Given the description of an element on the screen output the (x, y) to click on. 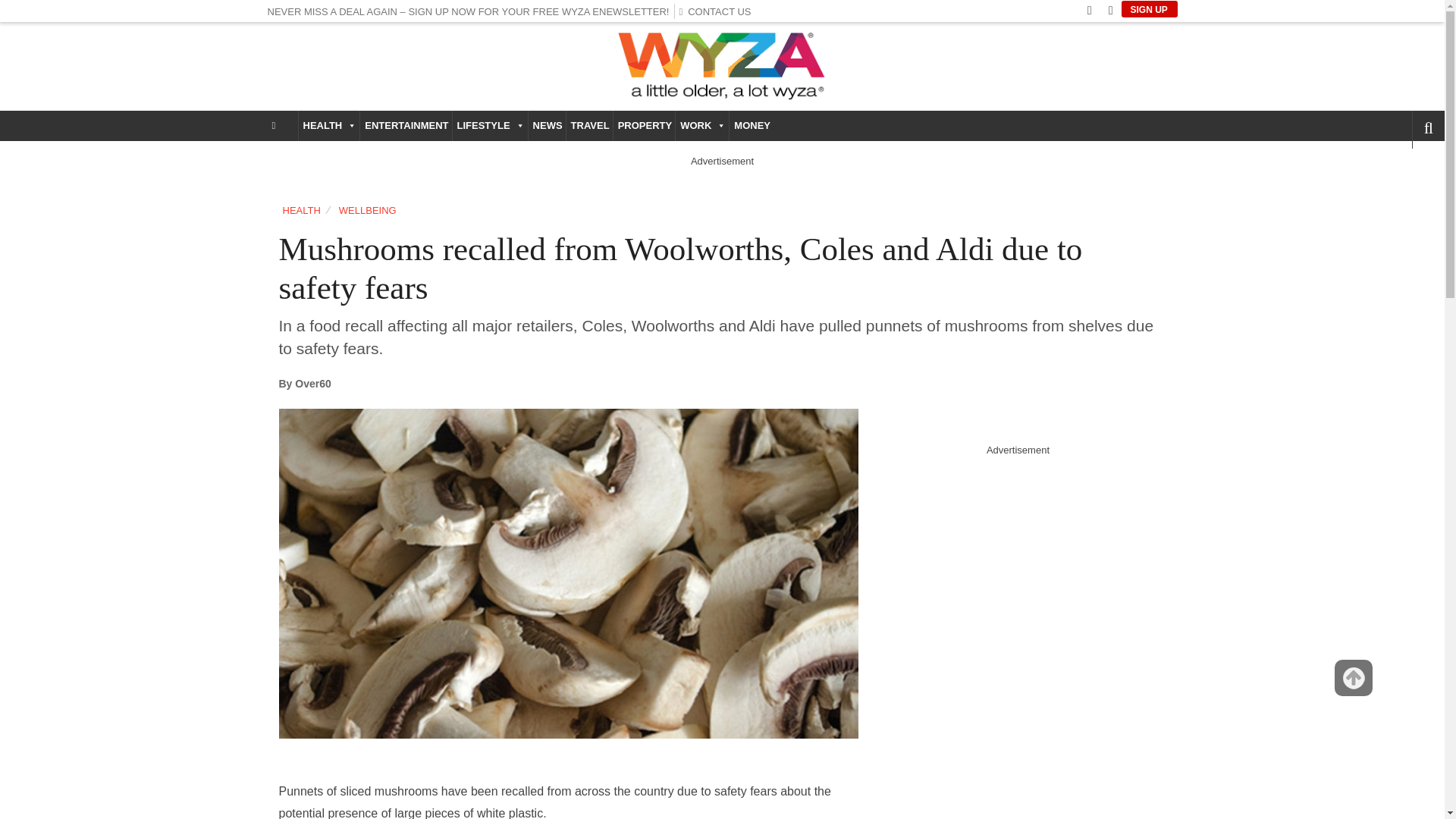
SIGN UP (1148, 8)
PROPERTY (643, 125)
Search (1402, 170)
HEALTH (328, 125)
MONEY (751, 125)
LIFESTYLE (489, 125)
CONTACT US (718, 11)
NEWS (547, 125)
ENTERTAINMENT (405, 125)
WORK (702, 125)
TRAVEL (589, 125)
